Given the description of an element on the screen output the (x, y) to click on. 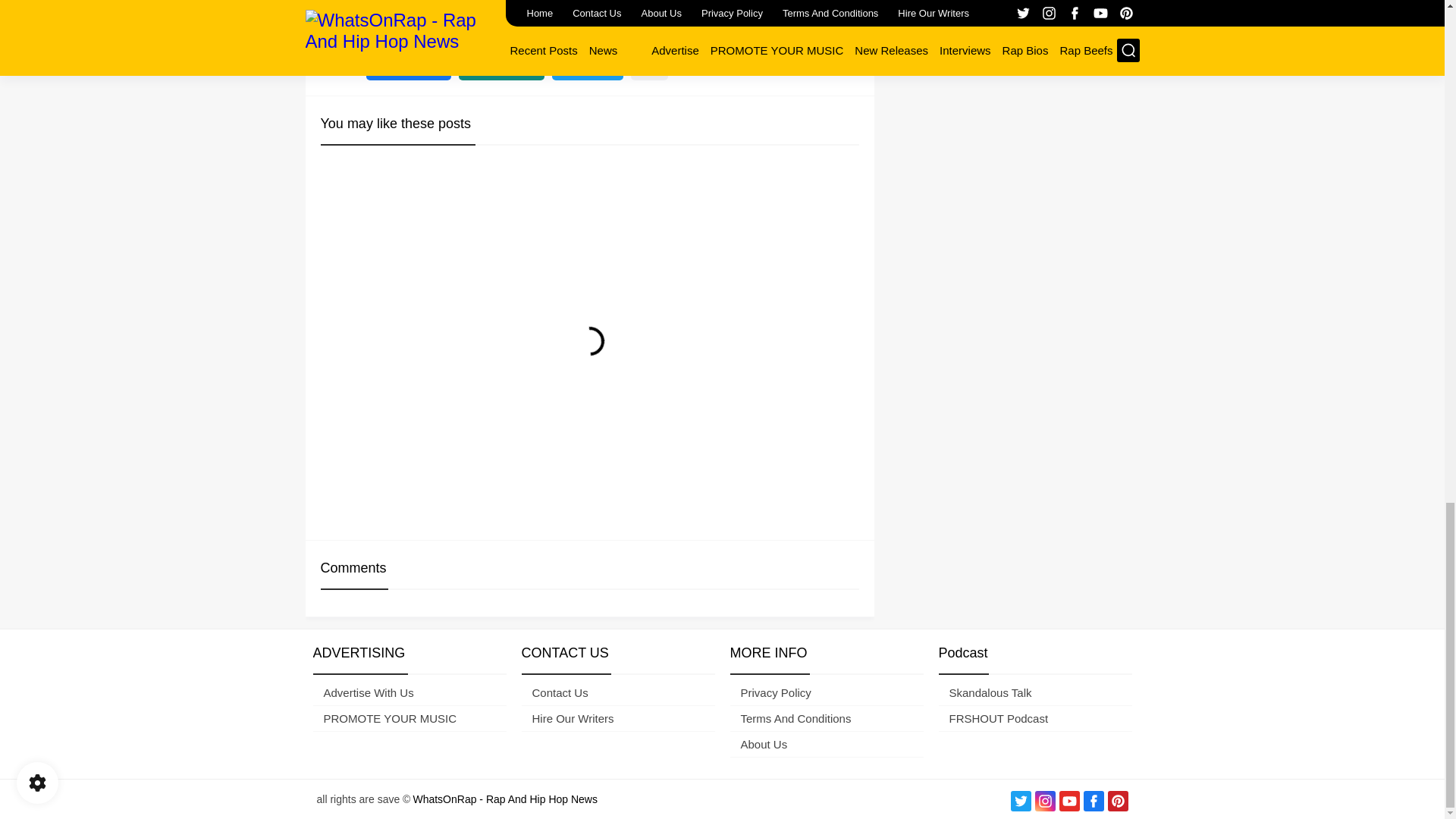
News (384, 12)
